Given the description of an element on the screen output the (x, y) to click on. 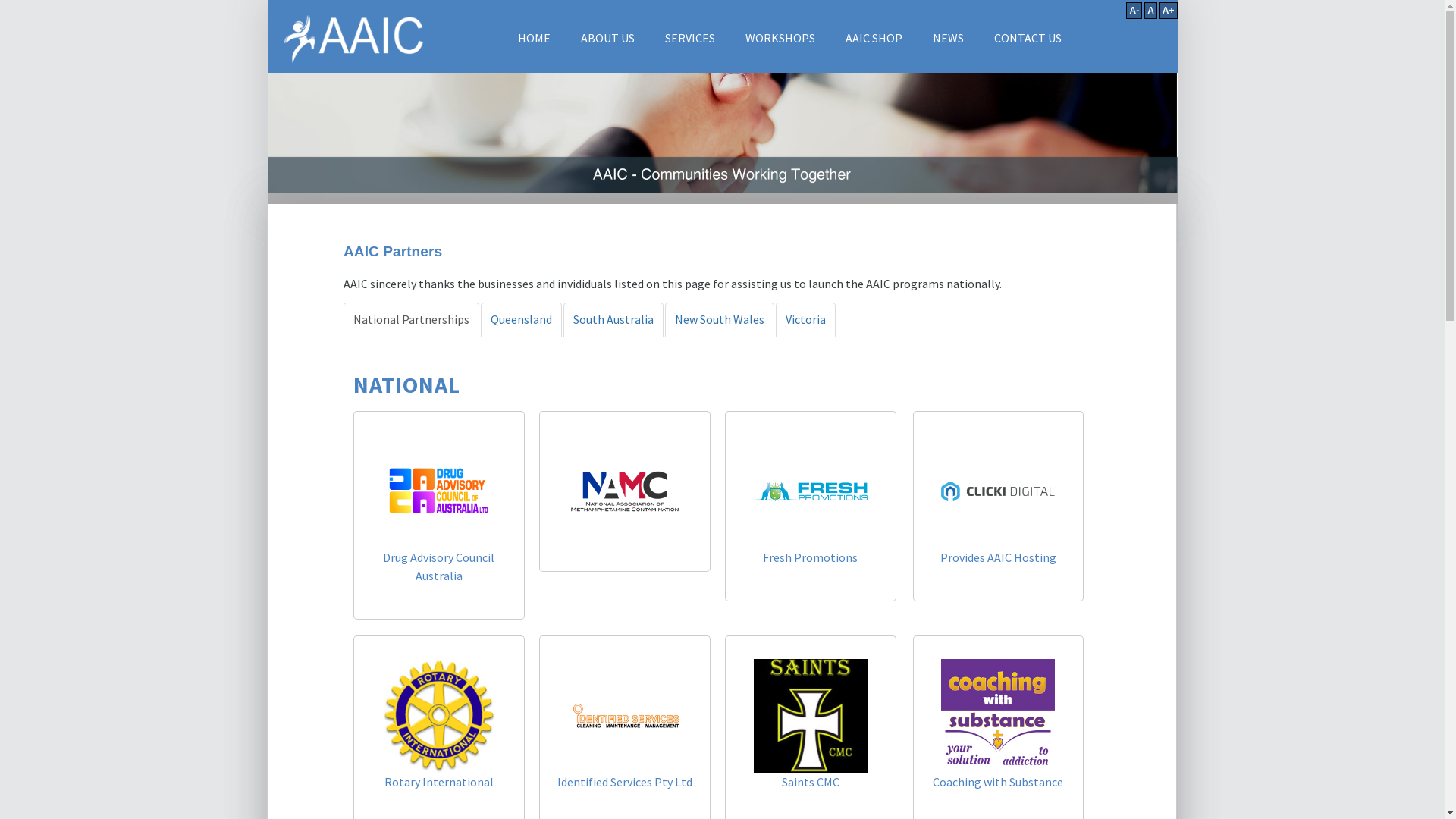
HOME Element type: text (533, 38)
AAIC SHOP Element type: text (873, 38)
Coaching with Substance Element type: text (997, 781)
SERVICES Element type: text (688, 38)
Victoria Element type: text (805, 319)
Queensland Element type: text (520, 319)
WORKSHOPS Element type: text (779, 38)
Saints CMC Element type: text (810, 781)
National Partnerships Element type: text (411, 319)
Rotary International Element type: text (438, 781)
Drug Advisory Council Australia Element type: text (438, 566)
A+ Element type: text (1168, 10)
South Australia Element type: text (613, 319)
New South Wales Element type: text (719, 319)
NEWS Element type: text (948, 38)
A Element type: text (1150, 10)
A- Element type: text (1134, 10)
ABOUT US Element type: text (607, 38)
Provides AAIC Hosting Element type: text (998, 556)
CONTACT US Element type: text (1026, 38)
Identified Services Pty Ltd Element type: text (624, 781)
Fresh Promotions Element type: text (809, 556)
